Given the description of an element on the screen output the (x, y) to click on. 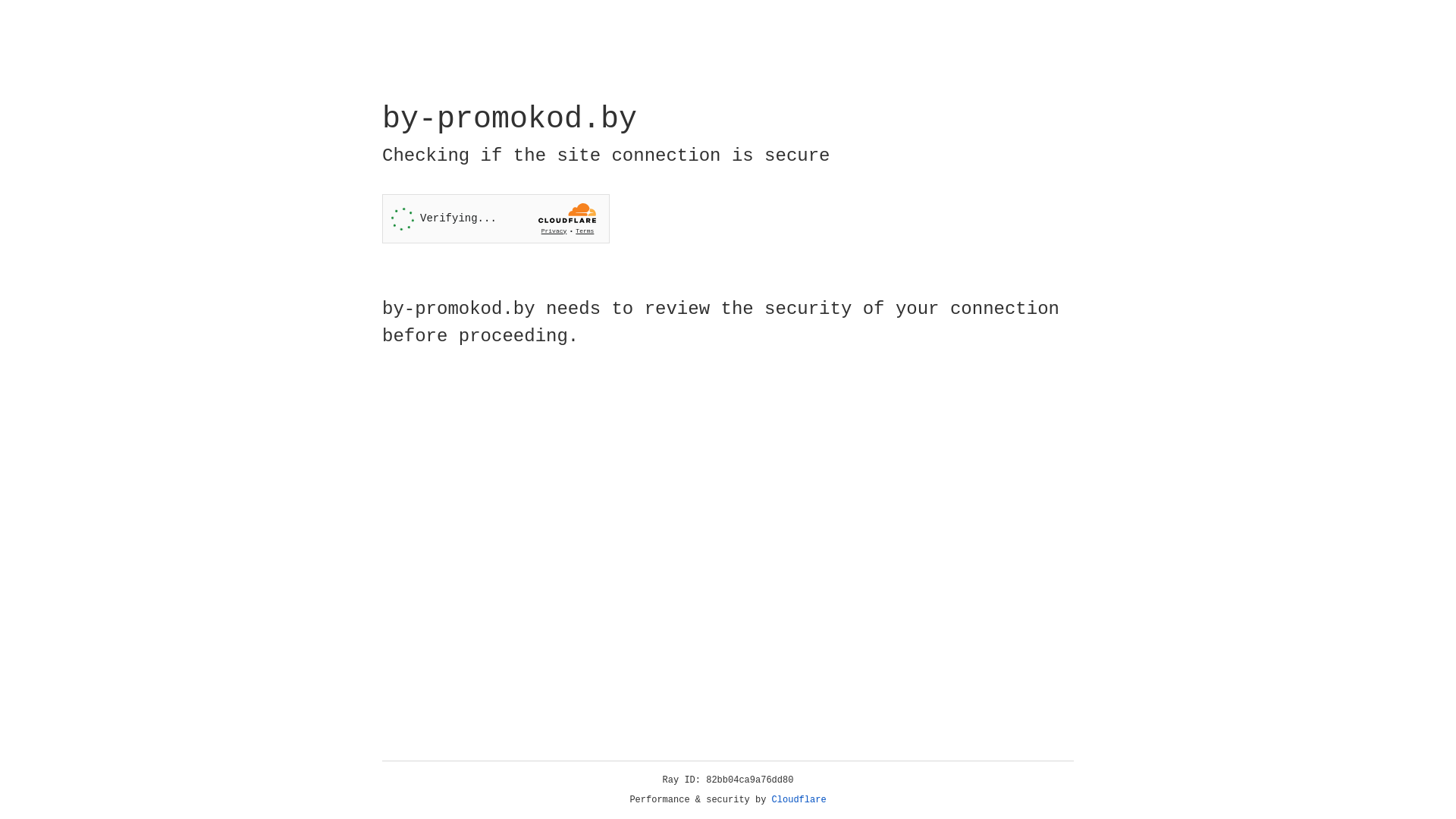
Widget containing a Cloudflare security challenge Element type: hover (495, 218)
Cloudflare Element type: text (798, 799)
